Given the description of an element on the screen output the (x, y) to click on. 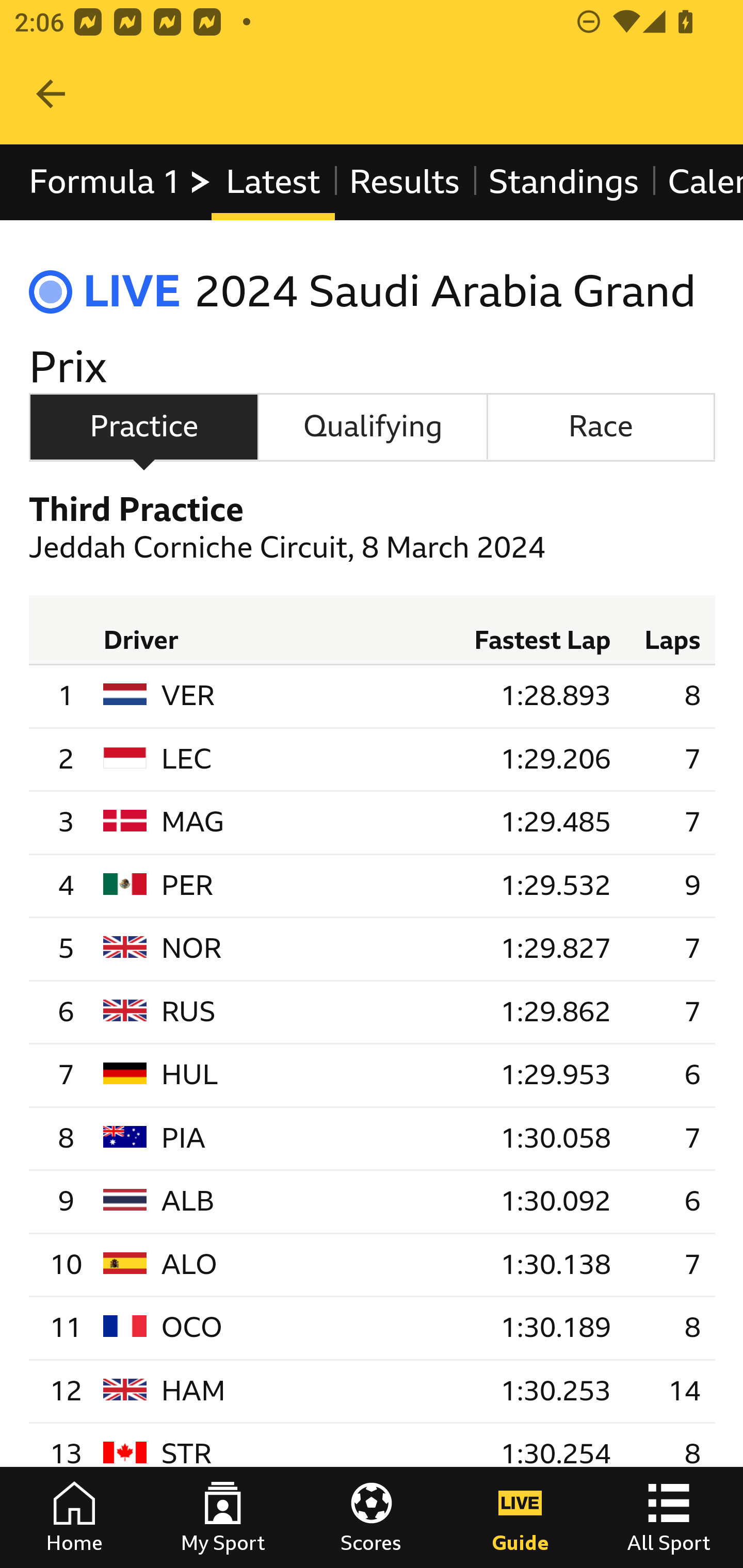
Navigate up (50, 93)
Formula 1  (120, 181)
Latest (272, 181)
Results (403, 181)
Standings (564, 181)
Practice (142, 426)
Qualifying (372, 426)
Race (600, 426)
Home (74, 1517)
My Sport (222, 1517)
Scores (371, 1517)
All Sport (668, 1517)
